Given the description of an element on the screen output the (x, y) to click on. 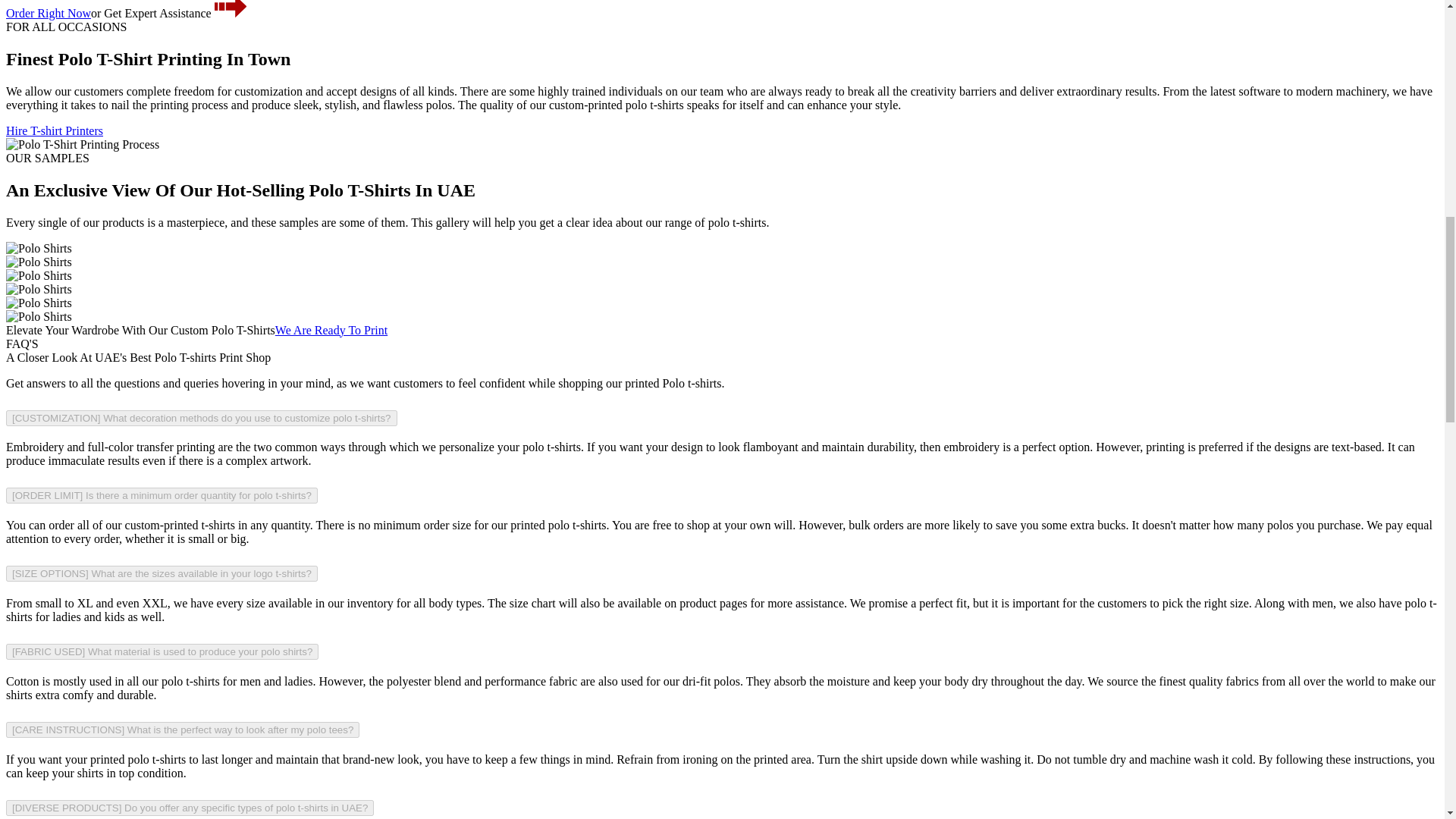
Get Expert Assistance (173, 12)
Polo T-Shirt Printing Process (81, 144)
Polo Shirts (38, 316)
We Are Ready To Print (331, 329)
Hire T-shirt Printers (54, 130)
Polo Shirts (38, 248)
Polo Shirts (38, 289)
Order Right Now (47, 12)
Polo Shirts (38, 303)
Polo Shirts (38, 275)
